Given the description of an element on the screen output the (x, y) to click on. 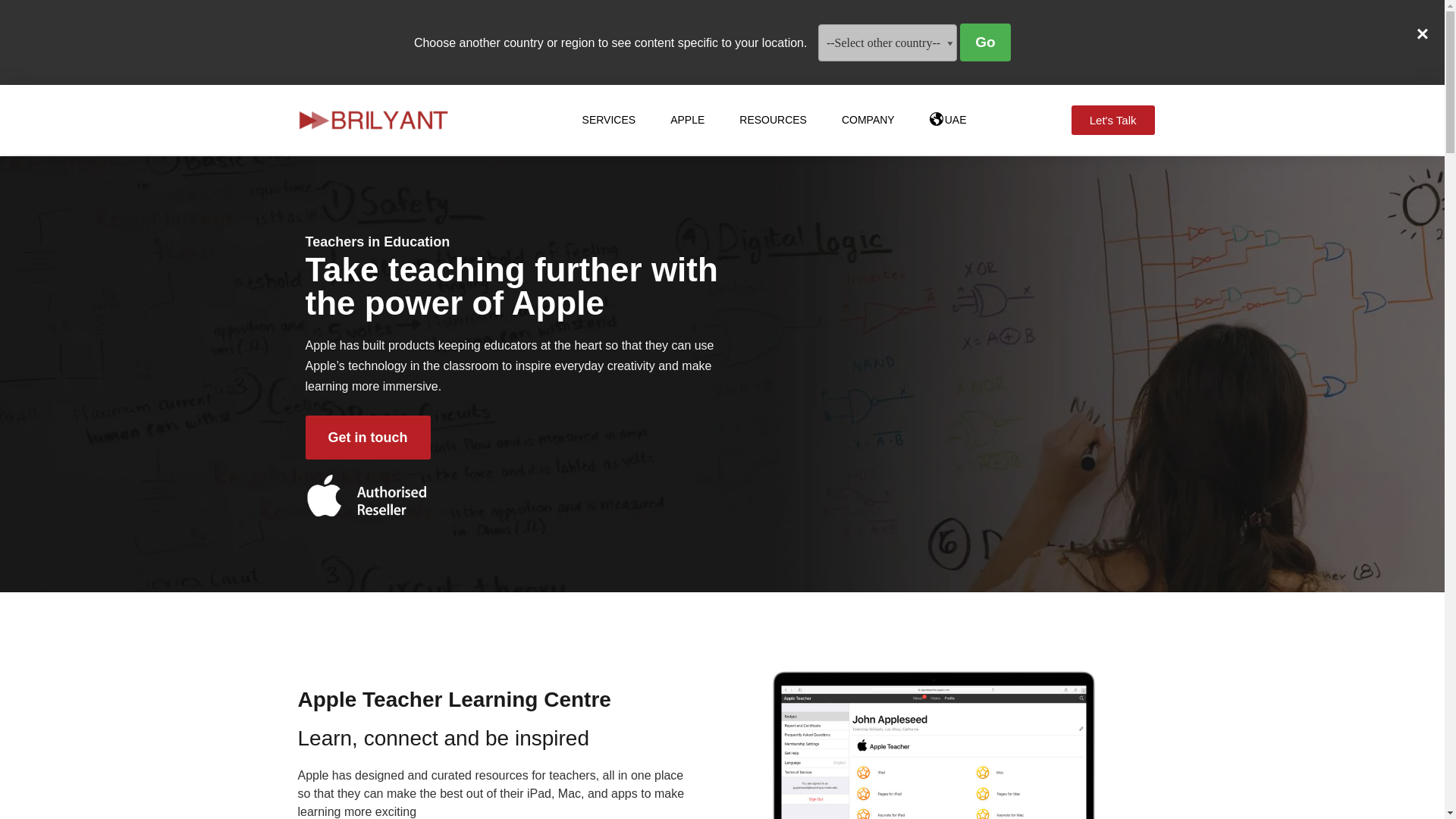
Go (984, 42)
SERVICES (608, 119)
Skip to content (11, 116)
COMPANY (868, 119)
RESOURCES (772, 119)
UAE (947, 119)
APPLE (687, 119)
